Given the description of an element on the screen output the (x, y) to click on. 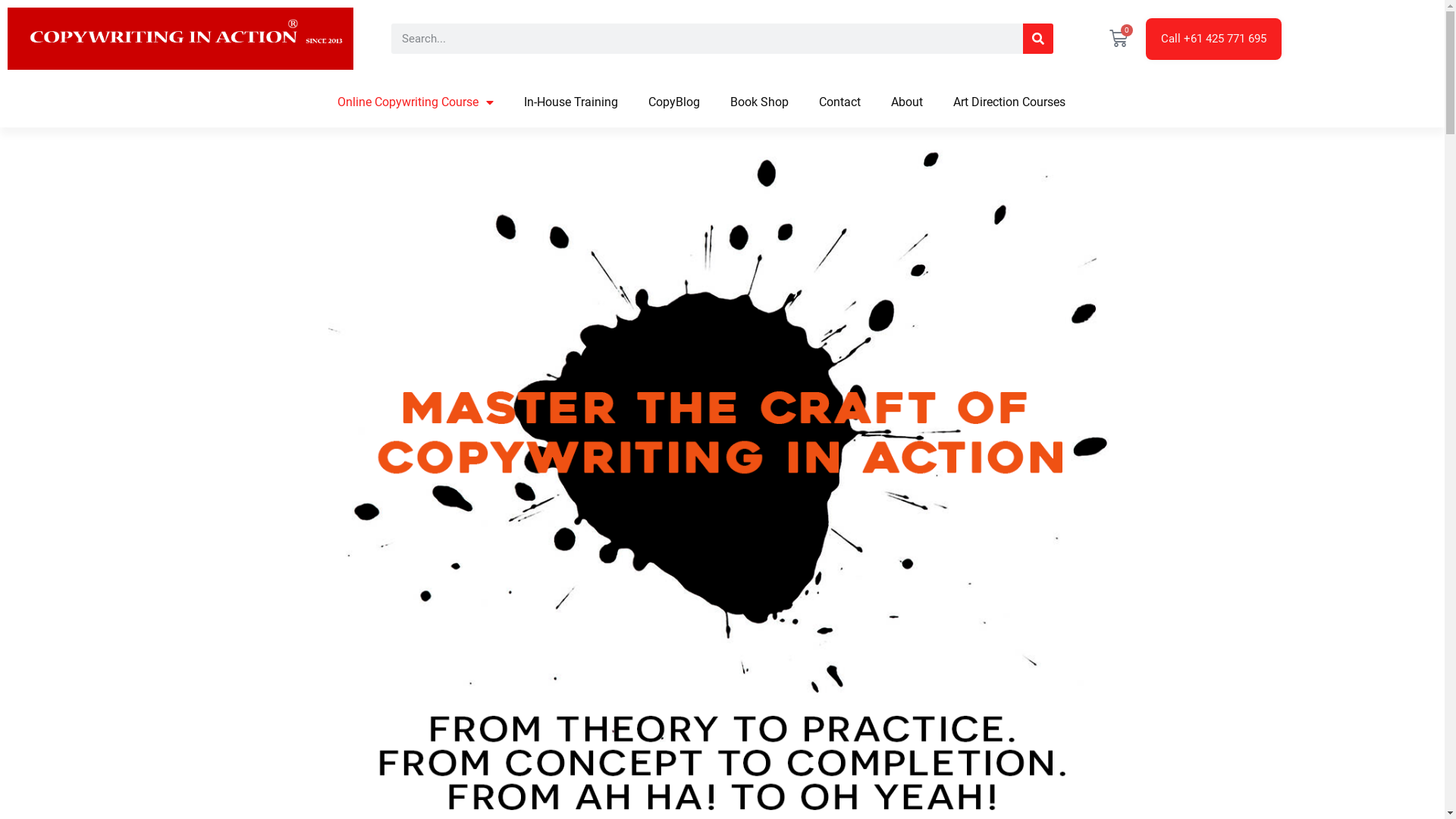
Art Direction Courses Element type: text (1009, 101)
Contact Element type: text (839, 101)
0 Element type: text (1118, 38)
Online Copywriting Course Element type: text (415, 101)
Call +61 425 771 695 Element type: text (1213, 38)
CopyBlog Element type: text (674, 101)
In-House Training Element type: text (570, 101)
Book Shop Element type: text (759, 101)
About Element type: text (906, 101)
